Given the description of an element on the screen output the (x, y) to click on. 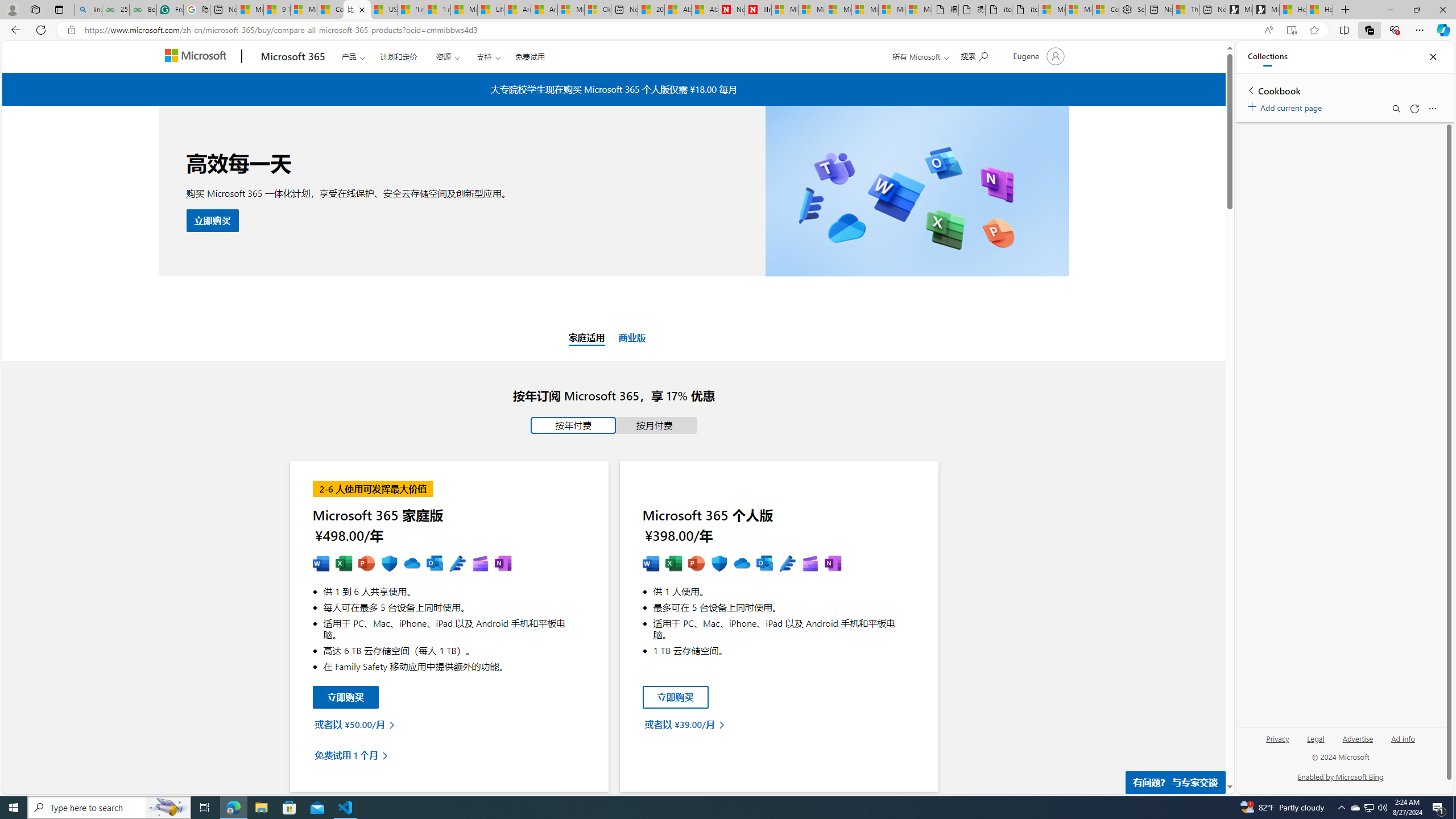
MS Outlook (435, 563)
Lifestyle - MSN (491, 9)
